Given the description of an element on the screen output the (x, y) to click on. 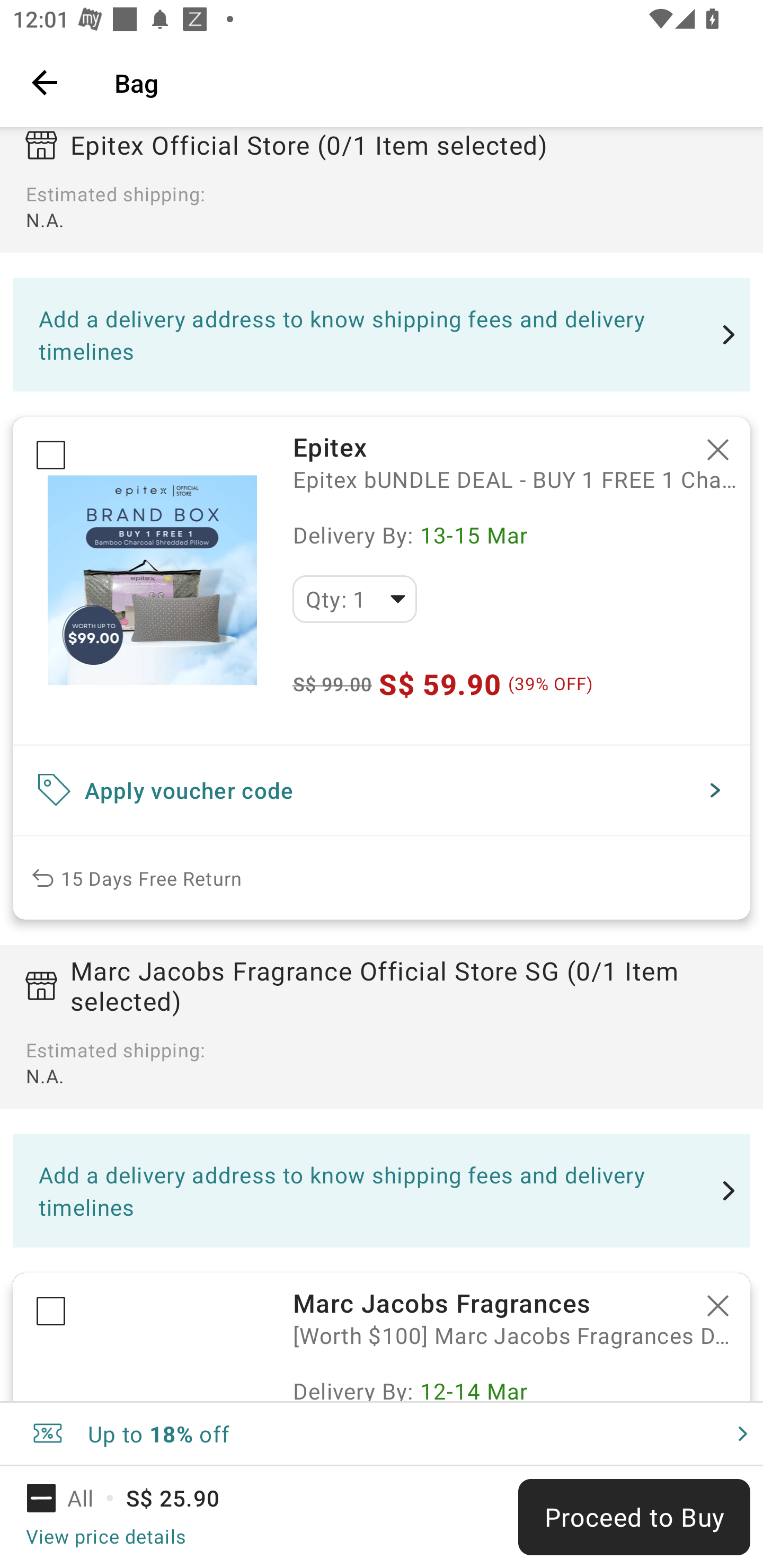
Navigate up (44, 82)
Bag (426, 82)
Qty: 1 (354, 598)
Apply voucher code (381, 790)
Up to 18% off (381, 1433)
All (72, 1497)
Proceed to Buy (634, 1516)
View price details (105, 1535)
